Given the description of an element on the screen output the (x, y) to click on. 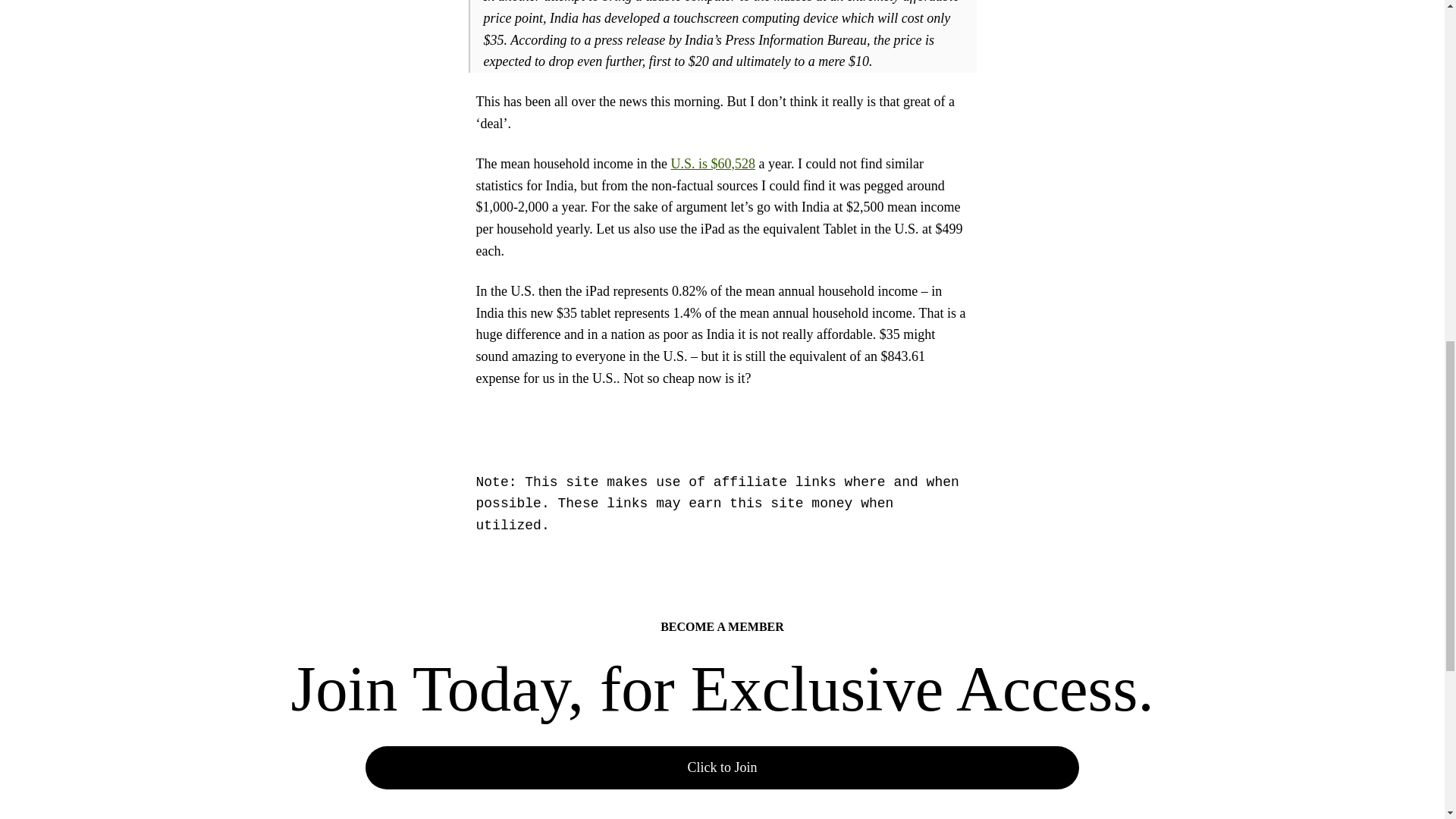
Click to Join (721, 767)
